Given the description of an element on the screen output the (x, y) to click on. 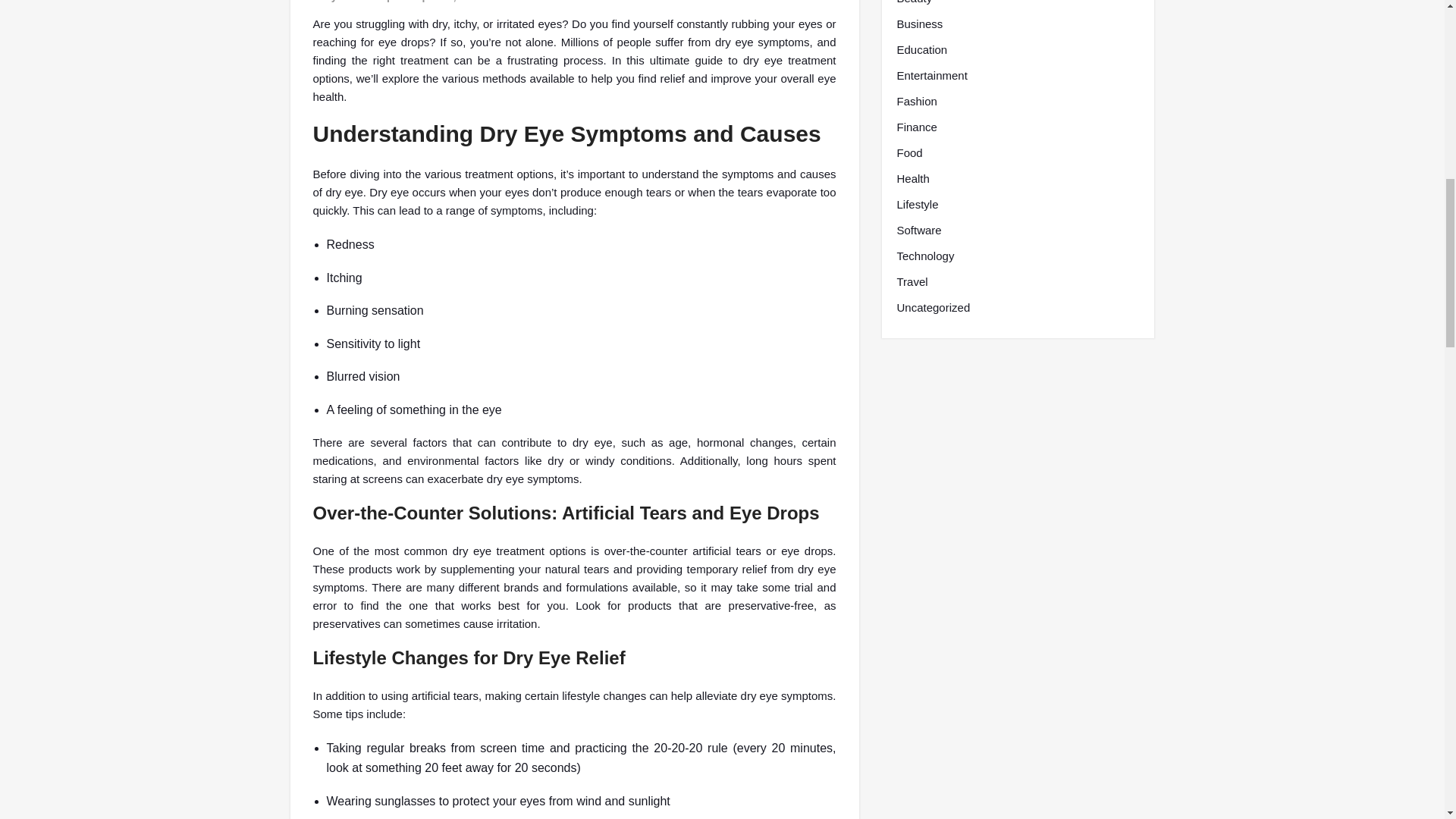
Business (919, 24)
Entertainment (931, 75)
April 16, 2023 (447, 1)
william (357, 1)
Education (921, 49)
Beauty (913, 3)
Fashion (916, 101)
Finance (916, 126)
